Given the description of an element on the screen output the (x, y) to click on. 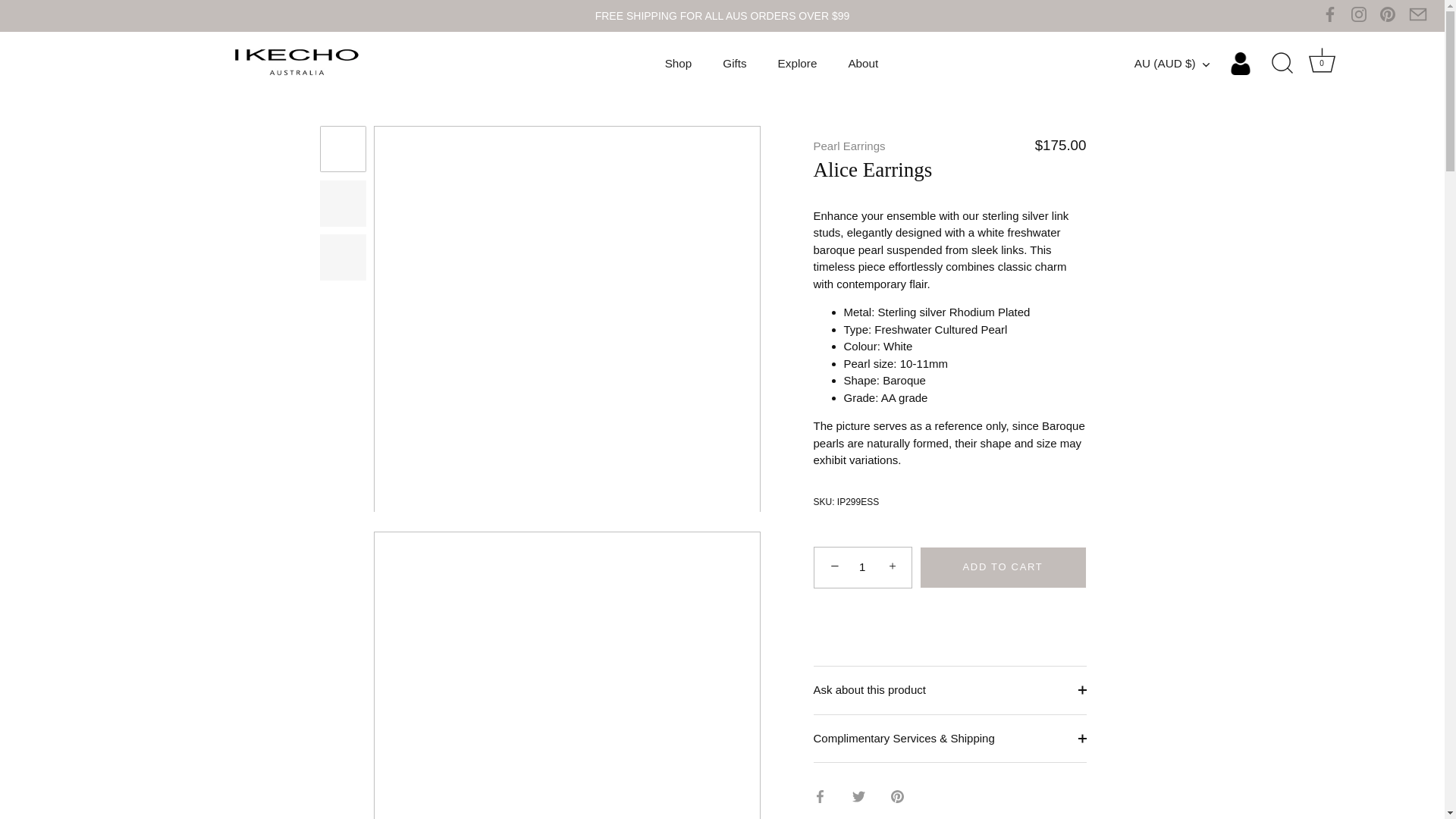
Pinterest (1387, 14)
Instagram (1359, 14)
Shop (677, 63)
Cart (1321, 59)
